Given the description of an element on the screen output the (x, y) to click on. 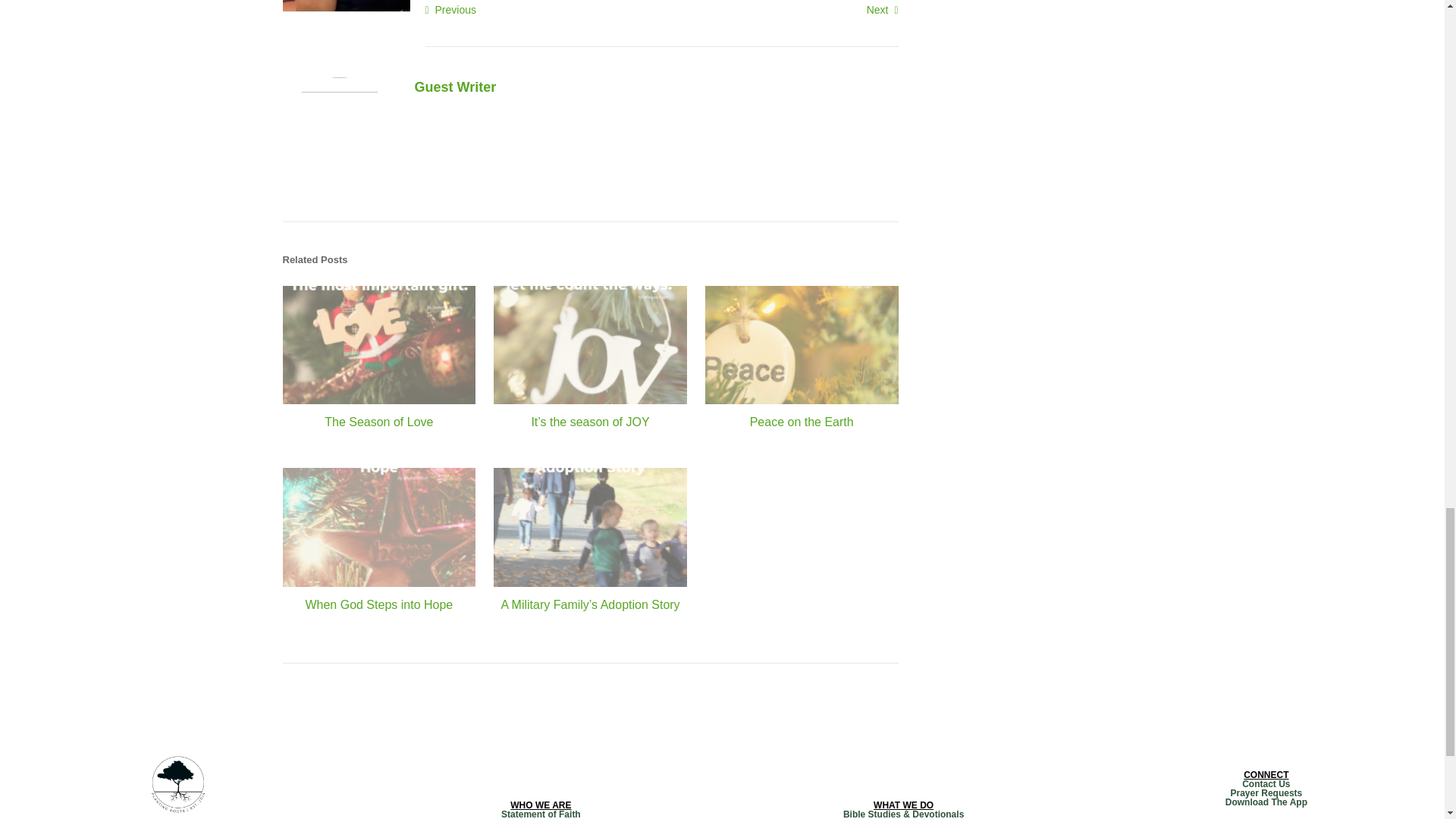
Posts by Guest Writer (454, 87)
